Given the description of an element on the screen output the (x, y) to click on. 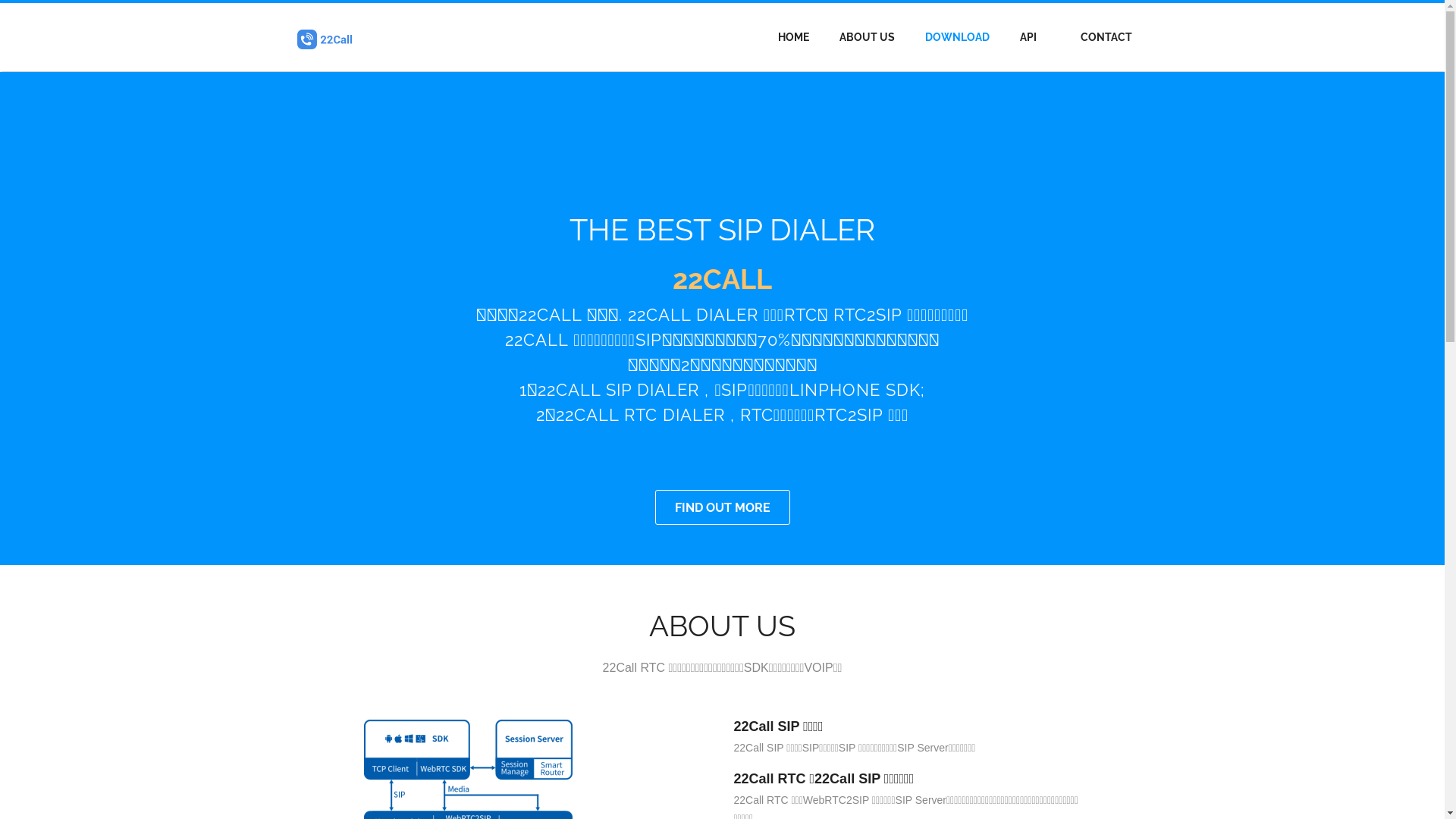
API Element type: text (1028, 37)
HOME Element type: text (792, 37)
ABOUT US Element type: text (867, 37)
DOWNLOAD Element type: text (956, 37)
CONTACT Element type: text (1106, 37)
FIND OUT MORE Element type: text (722, 506)
